Given the description of an element on the screen output the (x, y) to click on. 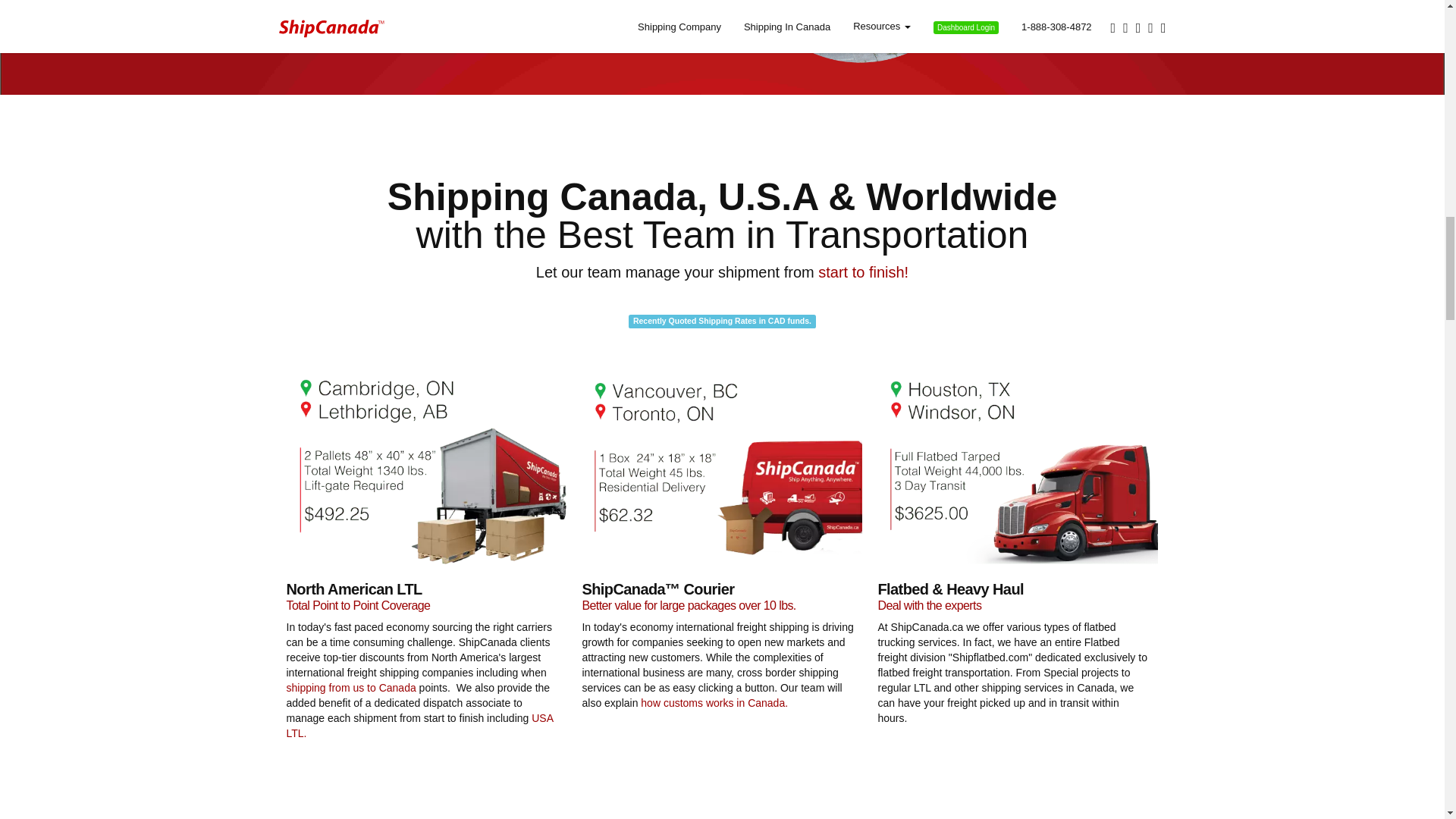
USA LTL. (419, 725)
shipping from us to Canada (351, 687)
